Given the description of an element on the screen output the (x, y) to click on. 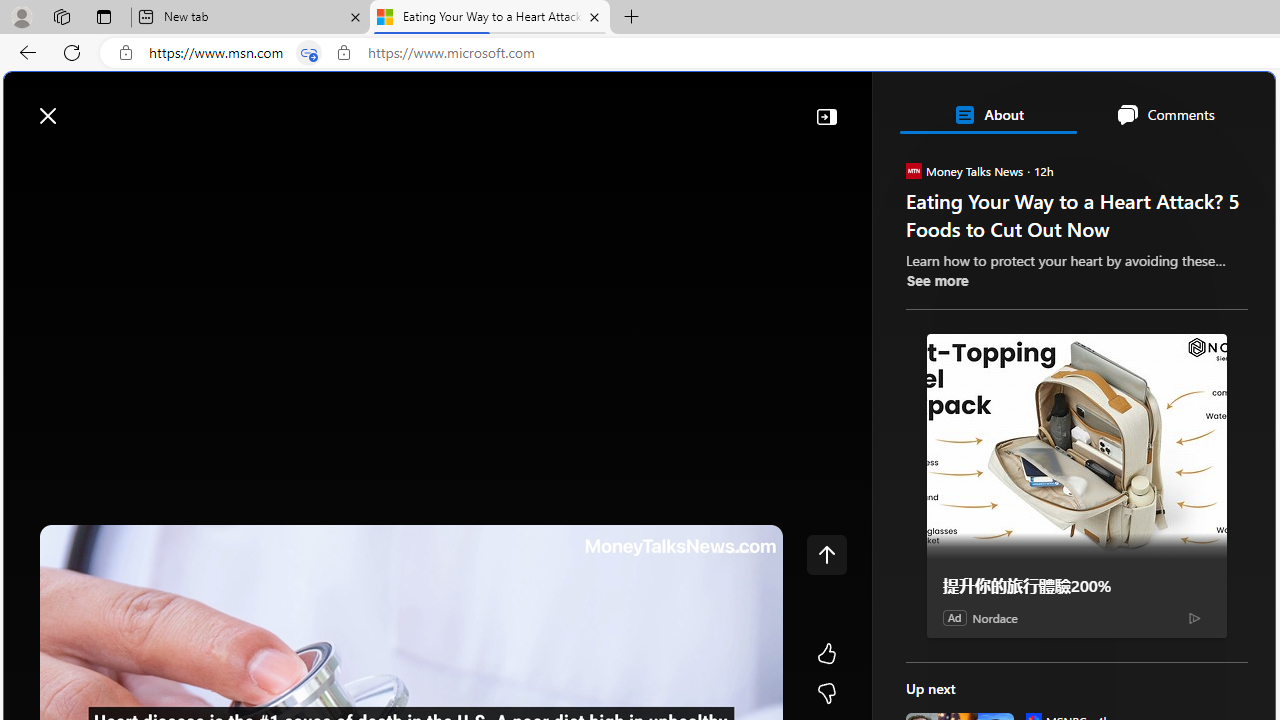
Open navigation menu (29, 162)
Class: control icon-only (826, 554)
